Given the description of an element on the screen output the (x, y) to click on. 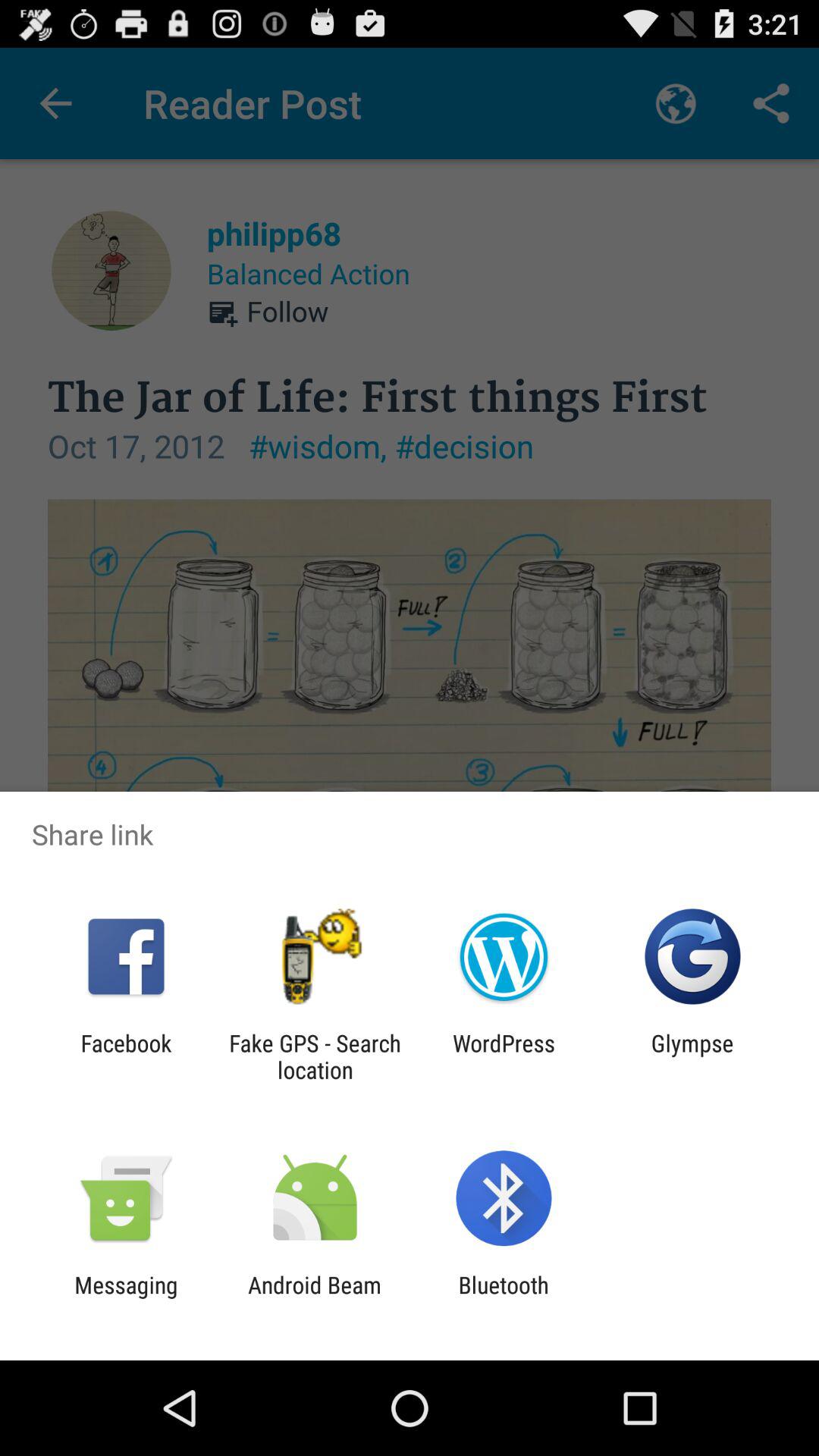
turn off app next to fake gps search item (125, 1056)
